Given the description of an element on the screen output the (x, y) to click on. 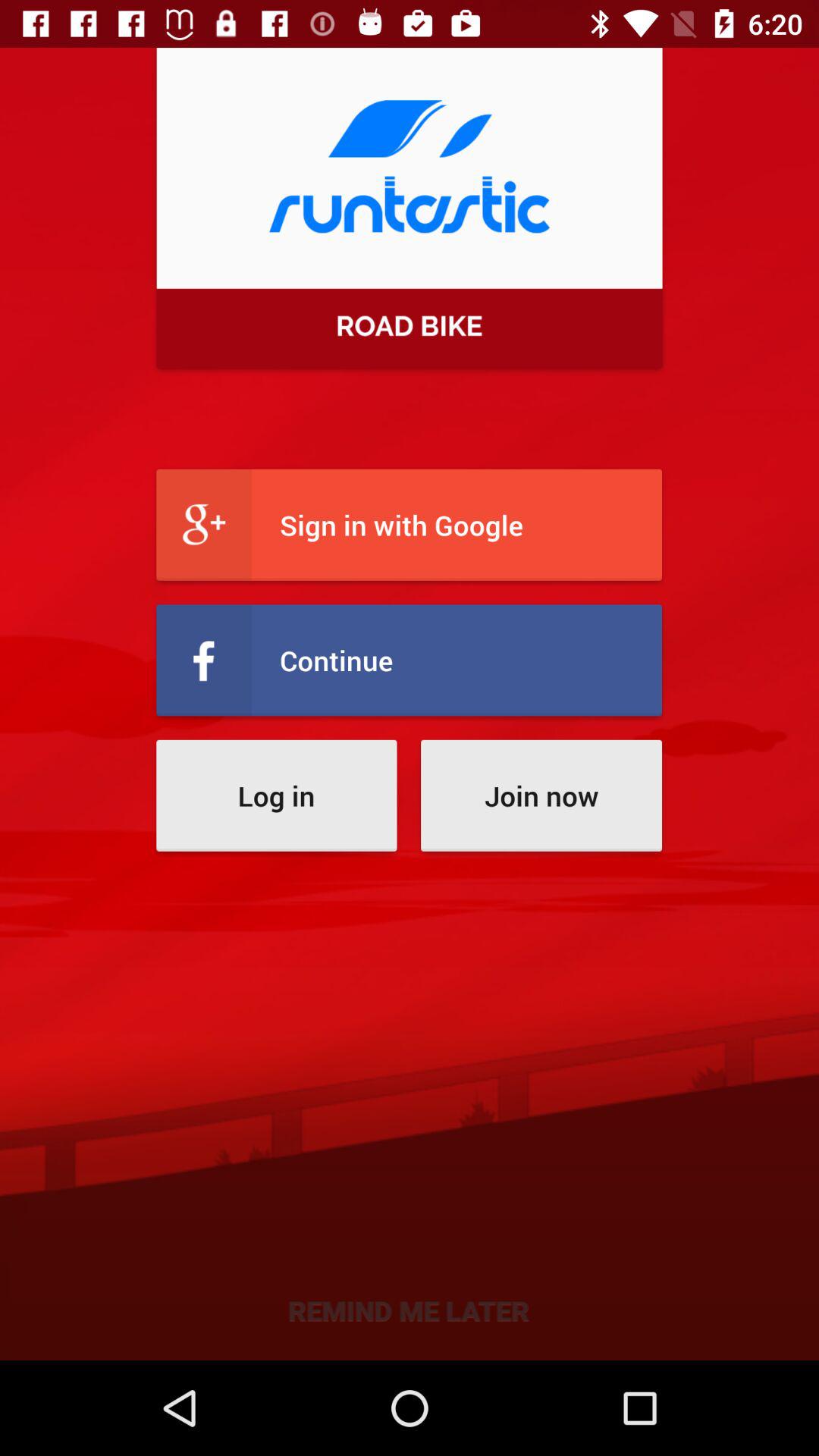
press the icon next to the join now icon (276, 795)
